Given the description of an element on the screen output the (x, y) to click on. 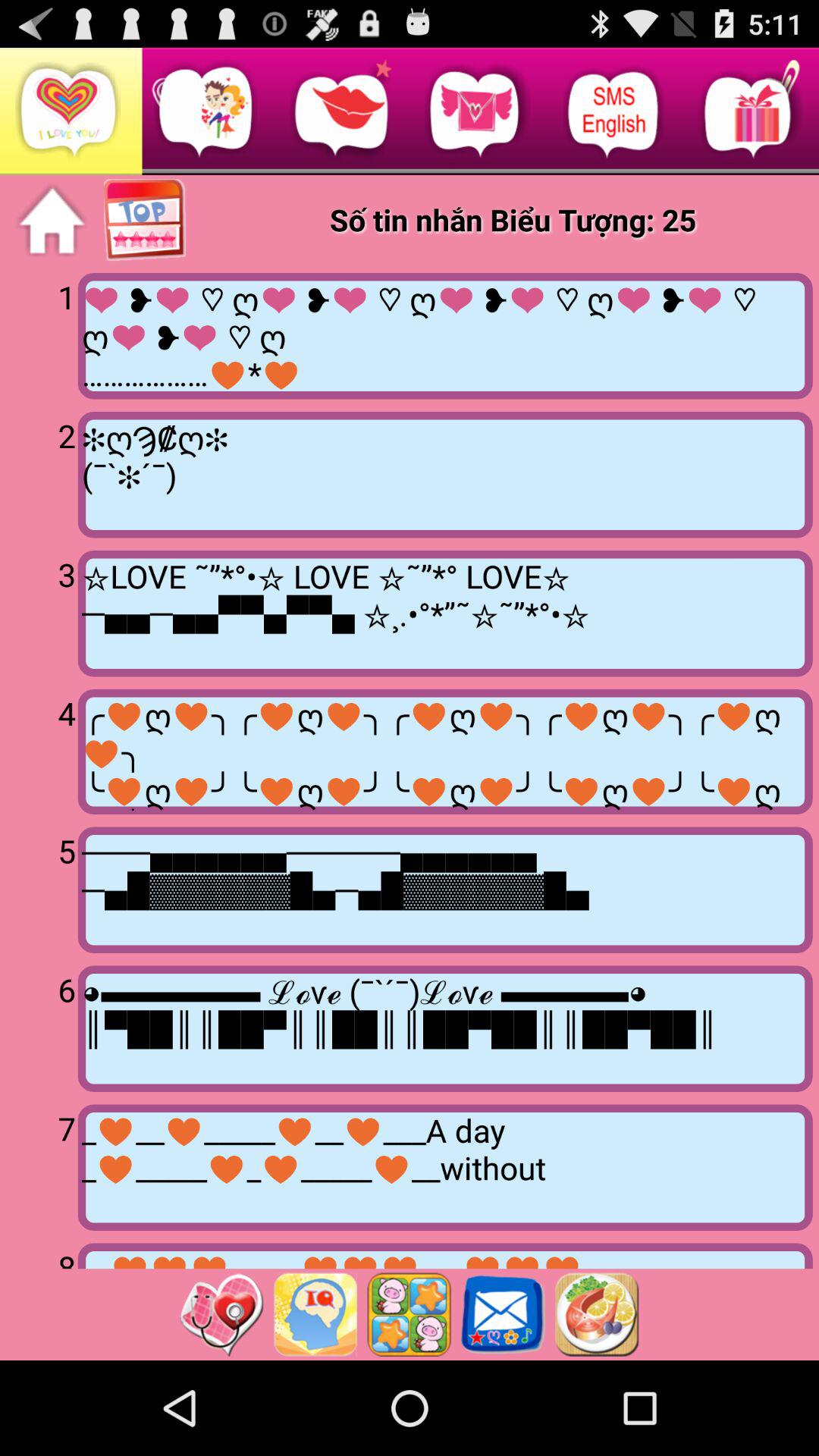
launch icon above 3 item (41, 472)
